Given the description of an element on the screen output the (x, y) to click on. 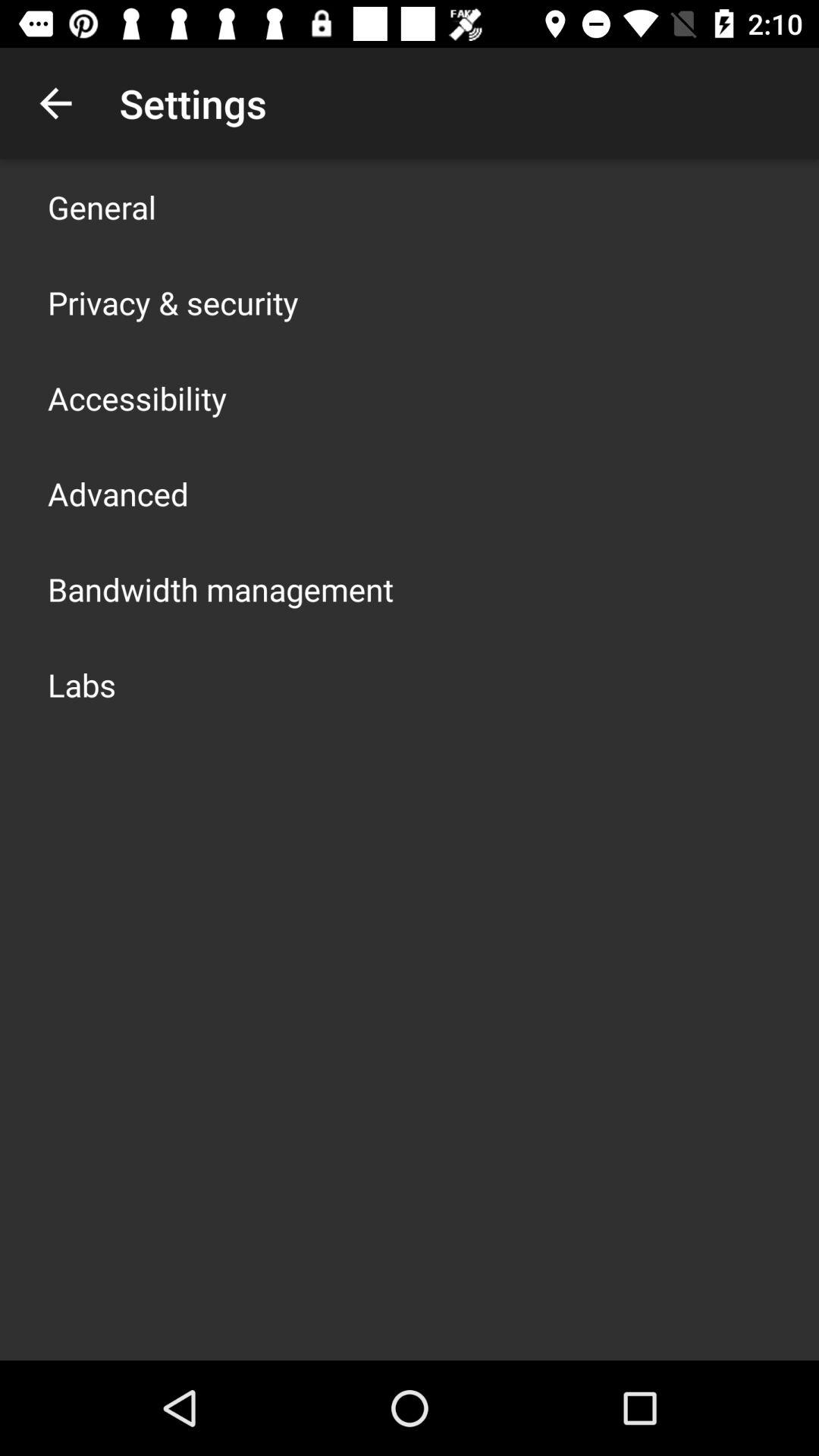
turn on general app (101, 206)
